Given the description of an element on the screen output the (x, y) to click on. 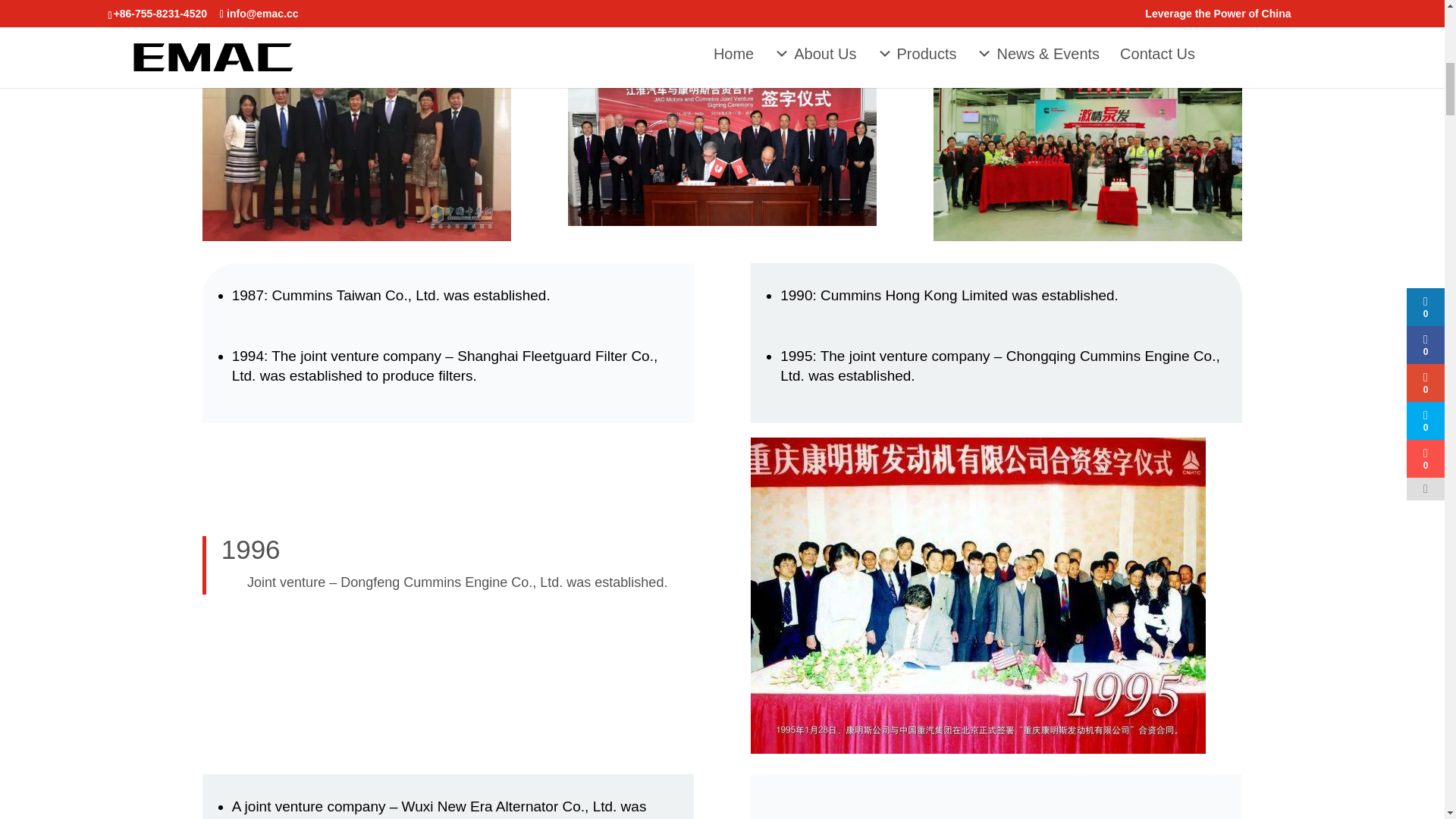
WUXI holset 15 million units 1080x720 (1087, 137)
anhui cummins sign with jac 1080x588 (721, 141)
